Given the description of an element on the screen output the (x, y) to click on. 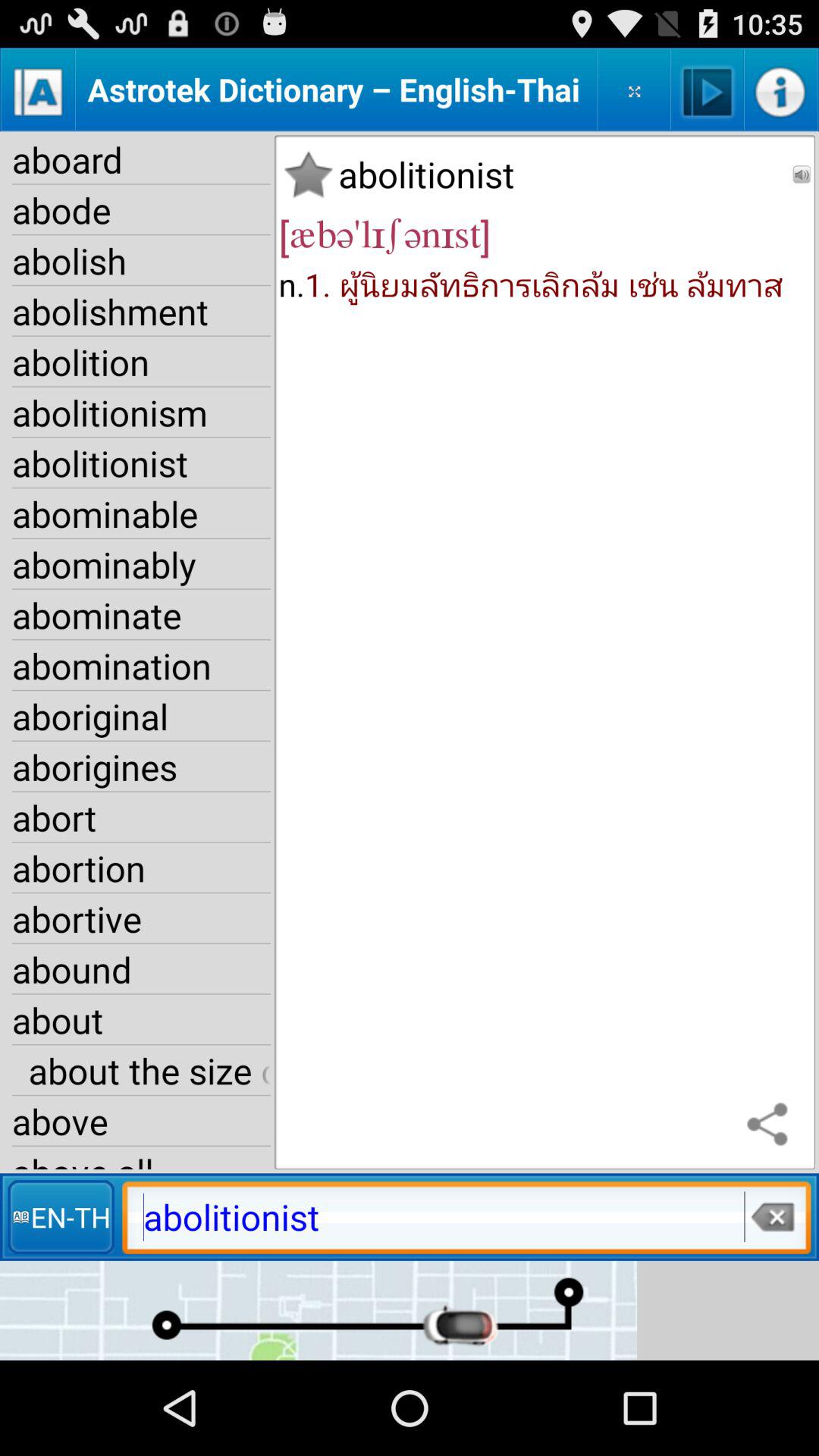
clear search bar (771, 1216)
